Given the description of an element on the screen output the (x, y) to click on. 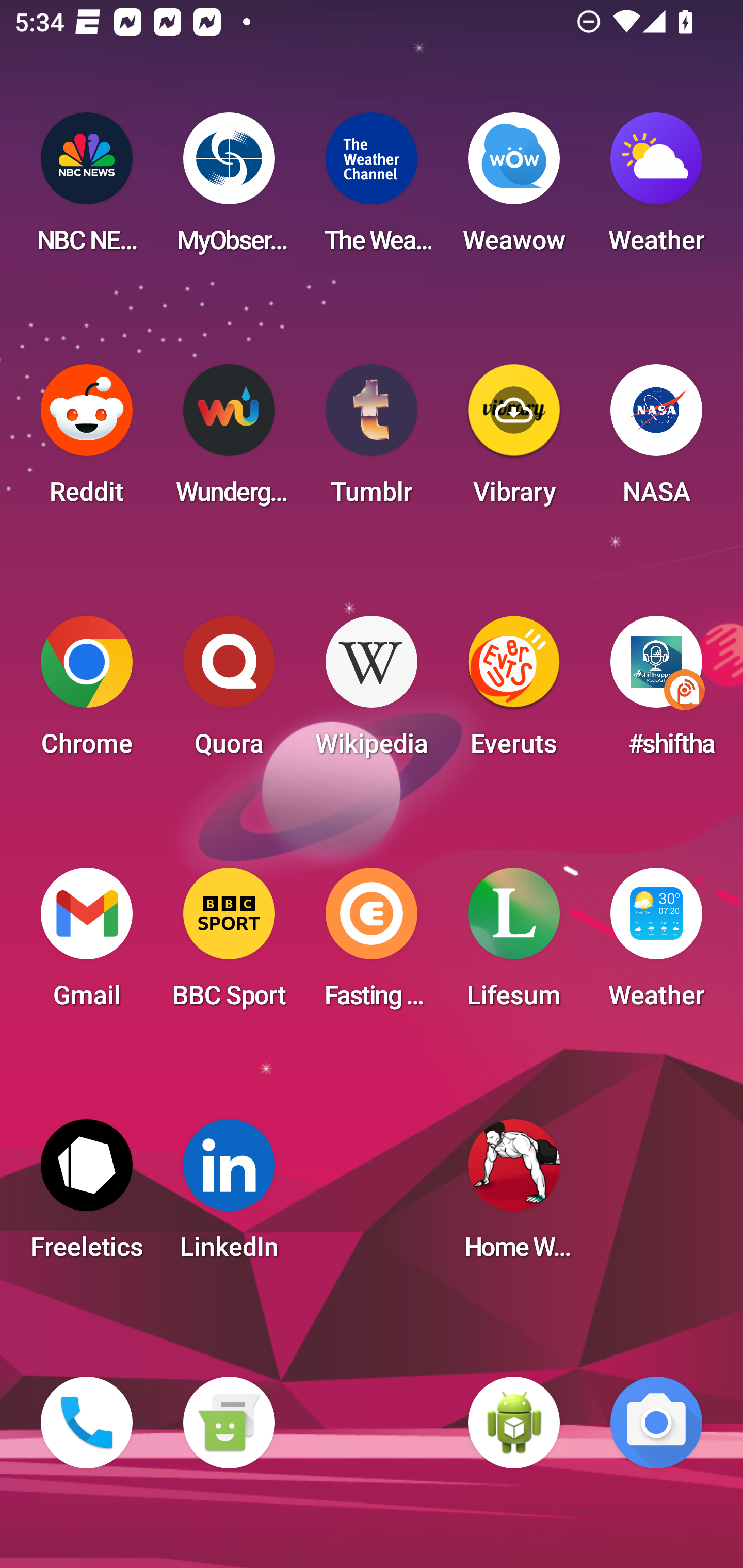
NBC NEWS (86, 188)
MyObservatory (228, 188)
The Weather Channel (371, 188)
Weawow (513, 188)
Weather (656, 188)
Reddit (86, 440)
Wunderground (228, 440)
Tumblr (371, 440)
Vibrary (513, 440)
NASA (656, 440)
Chrome (86, 692)
Quora (228, 692)
Wikipedia (371, 692)
Everuts (513, 692)
#shifthappens in the Digital Workplace Podcast (656, 692)
Gmail (86, 943)
BBC Sport (228, 943)
Fasting Coach (371, 943)
Lifesum (513, 943)
Weather (656, 943)
Freeletics (86, 1195)
LinkedIn (228, 1195)
Home Workout (513, 1195)
Phone (86, 1422)
Messaging (228, 1422)
WebView Browser Tester (513, 1422)
Camera (656, 1422)
